Given the description of an element on the screen output the (x, y) to click on. 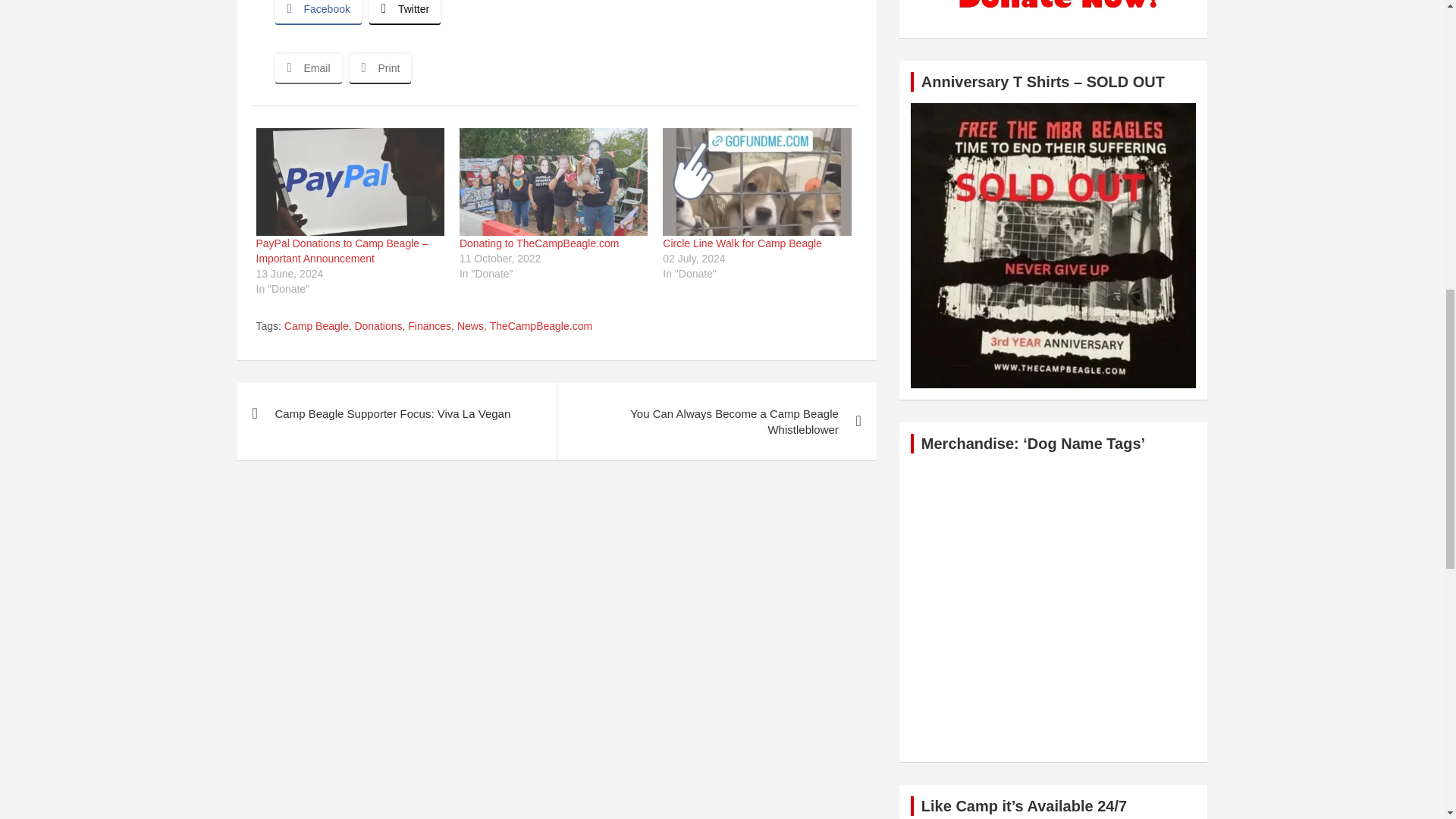
Circle Line Walk for Camp Beagle (742, 243)
Circle Line Walk for Camp Beagle (756, 181)
Facebook (318, 11)
Donating to TheCampBeagle.com (553, 181)
Donating to TheCampBeagle.com (540, 243)
